Given the description of an element on the screen output the (x, y) to click on. 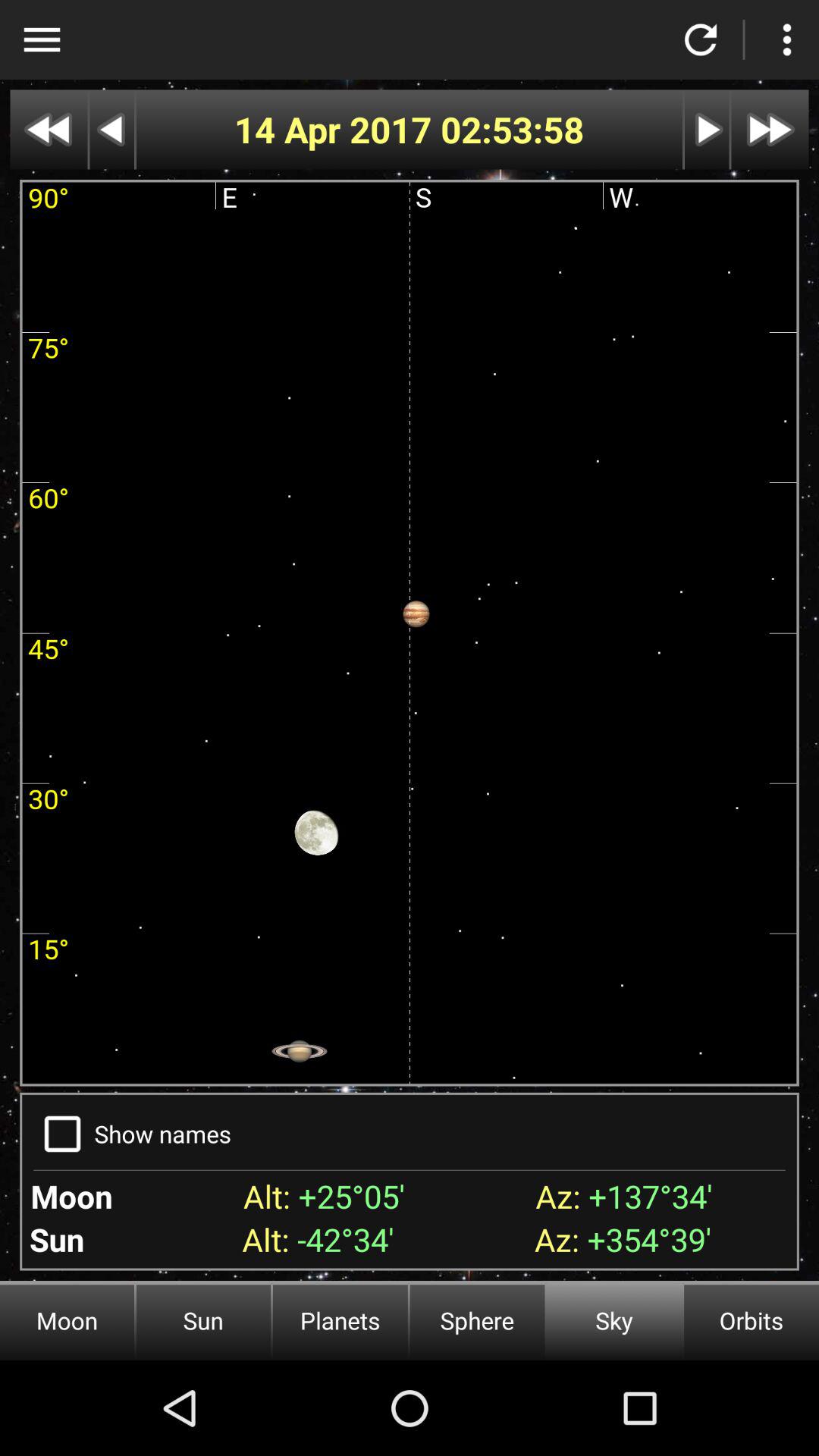
jump until 14 apr 2017  app (337, 129)
